Given the description of an element on the screen output the (x, y) to click on. 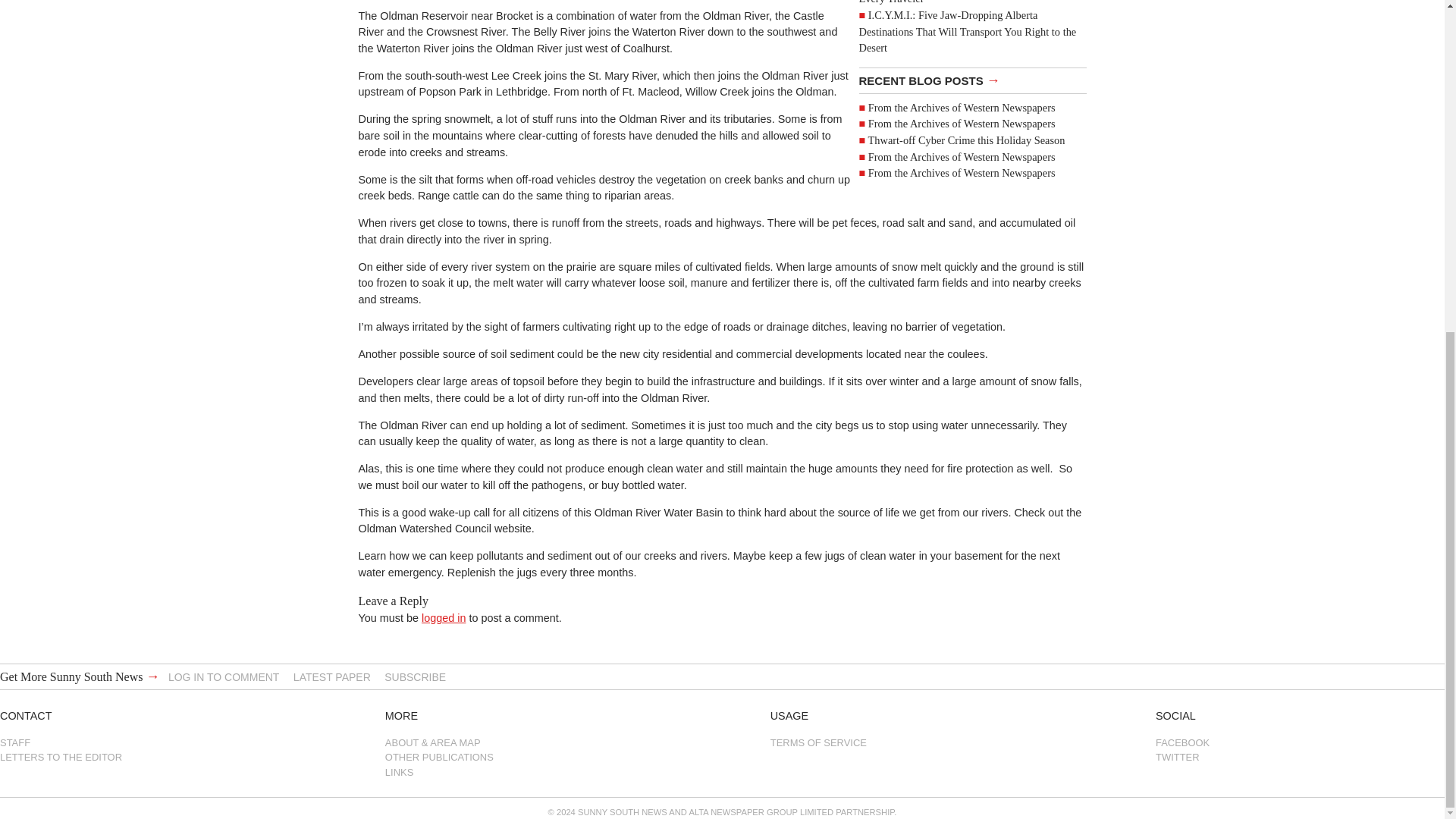
From the Archives of Western Newspapers (961, 123)
Thwart-off Cyber Crime this Holiday Season (966, 140)
LOG IN TO COMMENT (223, 676)
logged in (443, 617)
Southern Alberta Road Trip: An Adventure for Every Traveler (964, 2)
From the Archives of Western Newspapers (961, 107)
From the Archives of Western Newspapers (961, 173)
From the Archives of Western Newspapers (961, 155)
